Given the description of an element on the screen output the (x, y) to click on. 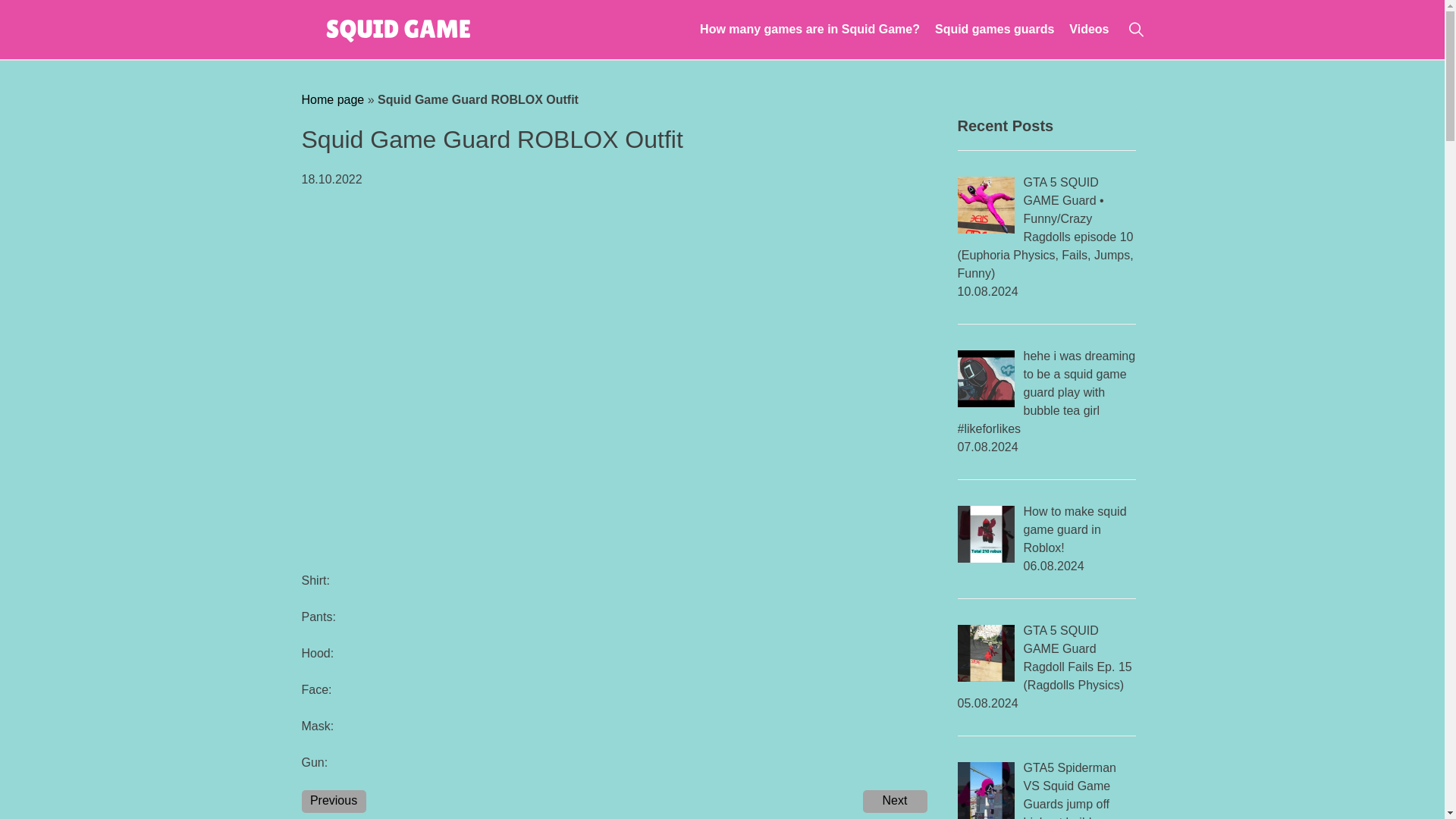
Videos (1088, 29)
Next (895, 801)
Home page (333, 99)
Previous (333, 801)
Squid games guards (994, 29)
How many games are in Squid Game? (810, 29)
